Given the description of an element on the screen output the (x, y) to click on. 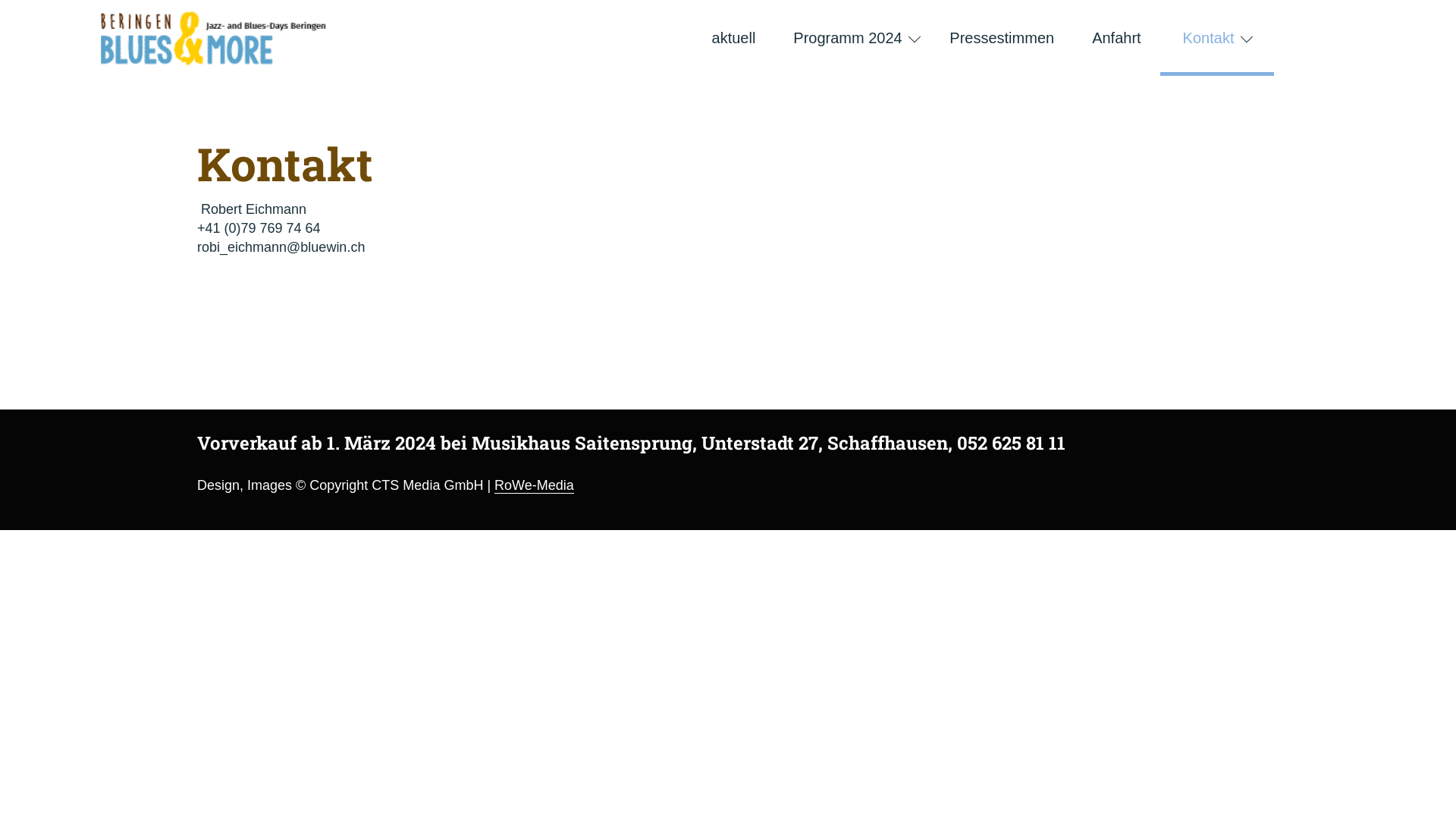
Programm 2024 Element type: text (852, 37)
Suchen Element type: text (1251, 83)
Anfahrt Element type: text (1116, 37)
RoWe-Media Element type: text (534, 485)
aktuell Element type: text (734, 37)
Pressestimmen Element type: text (1001, 37)
Musikhaus Saitensprung Element type: text (581, 442)
